Given the description of an element on the screen output the (x, y) to click on. 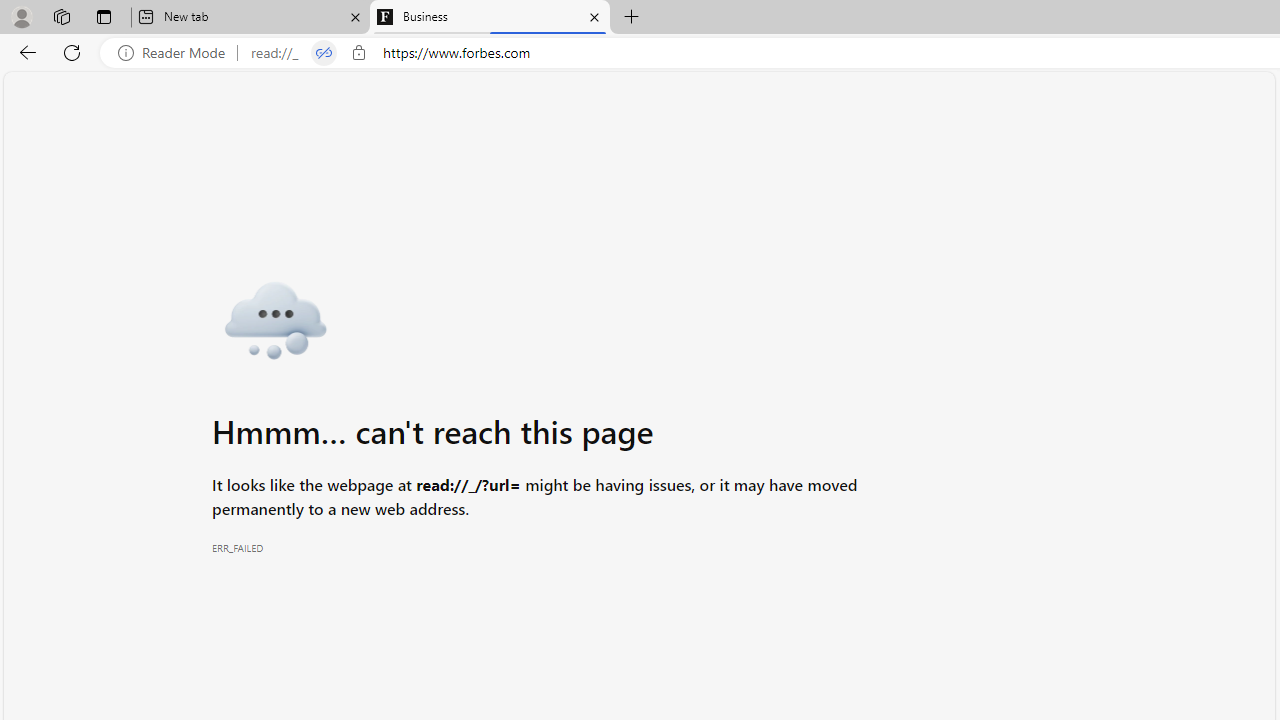
Business (490, 17)
Tabs in split screen (323, 53)
Reader Mode (177, 53)
